Given the description of an element on the screen output the (x, y) to click on. 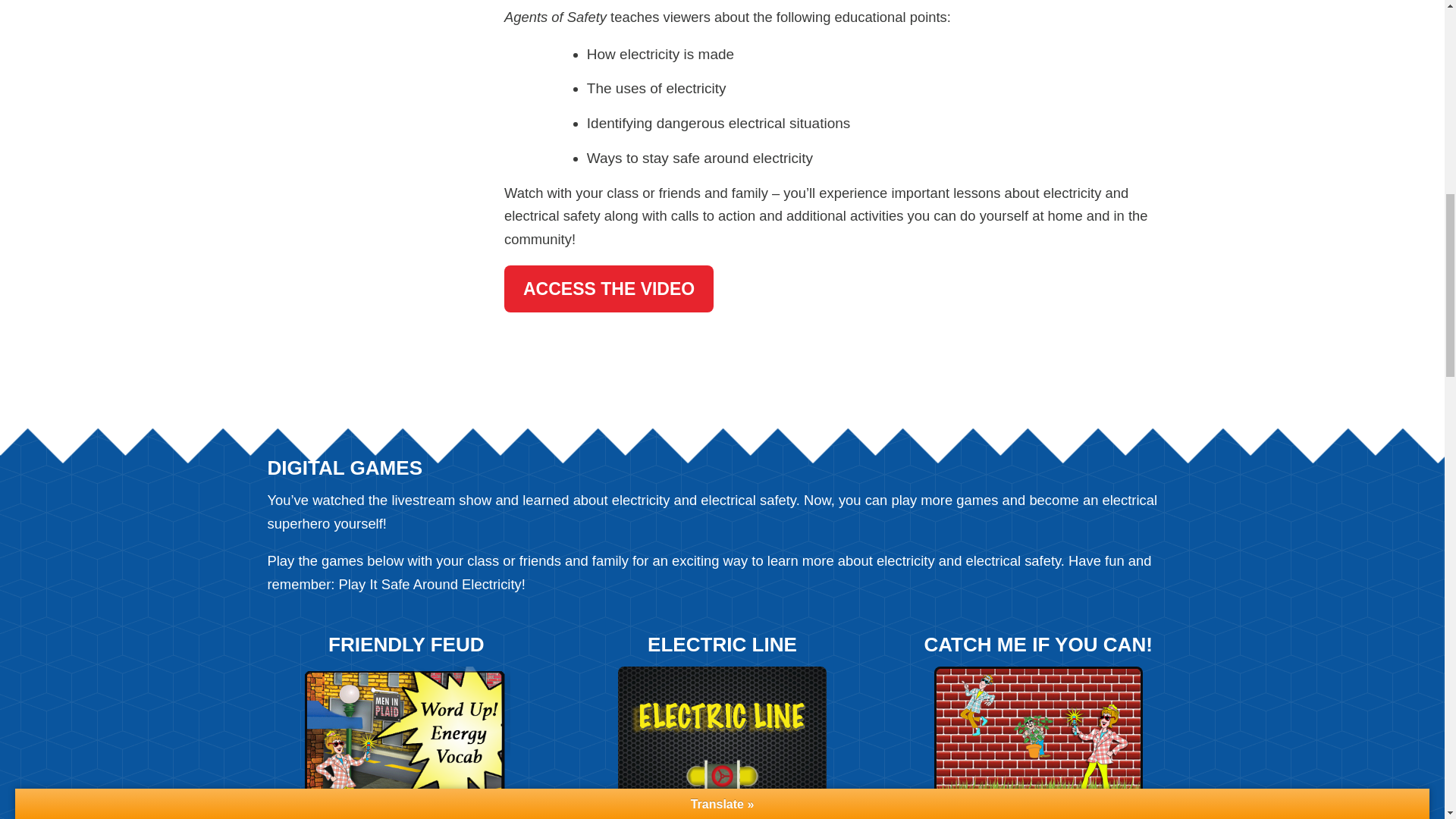
ACCESS THE VIDEO (608, 288)
